Given the description of an element on the screen output the (x, y) to click on. 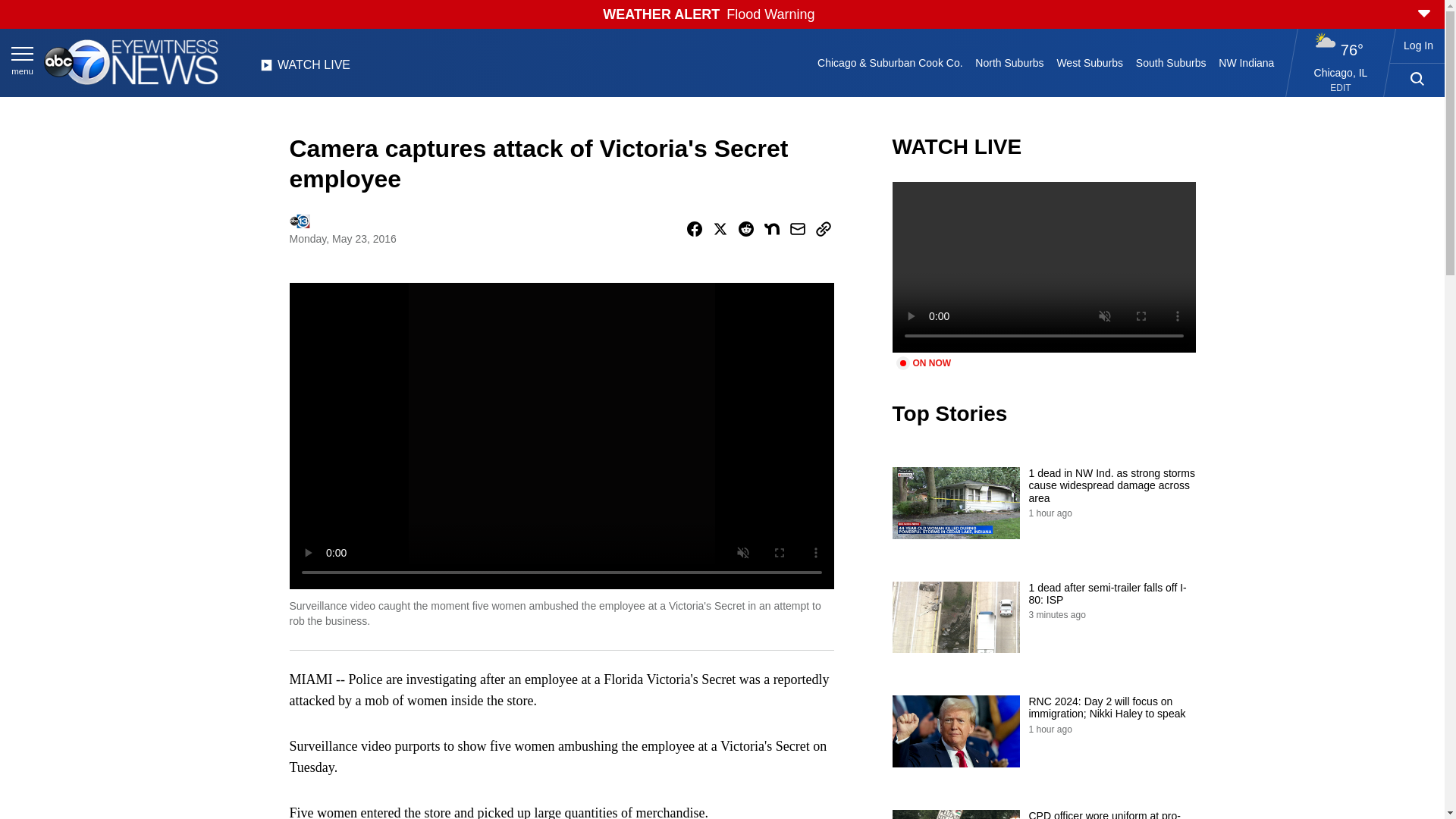
WATCH LIVE (305, 69)
North Suburbs (1009, 62)
video.title (1043, 266)
Chicago, IL (1340, 72)
EDIT (1340, 87)
South Suburbs (1170, 62)
NW Indiana (1246, 62)
West Suburbs (1089, 62)
